Given the description of an element on the screen output the (x, y) to click on. 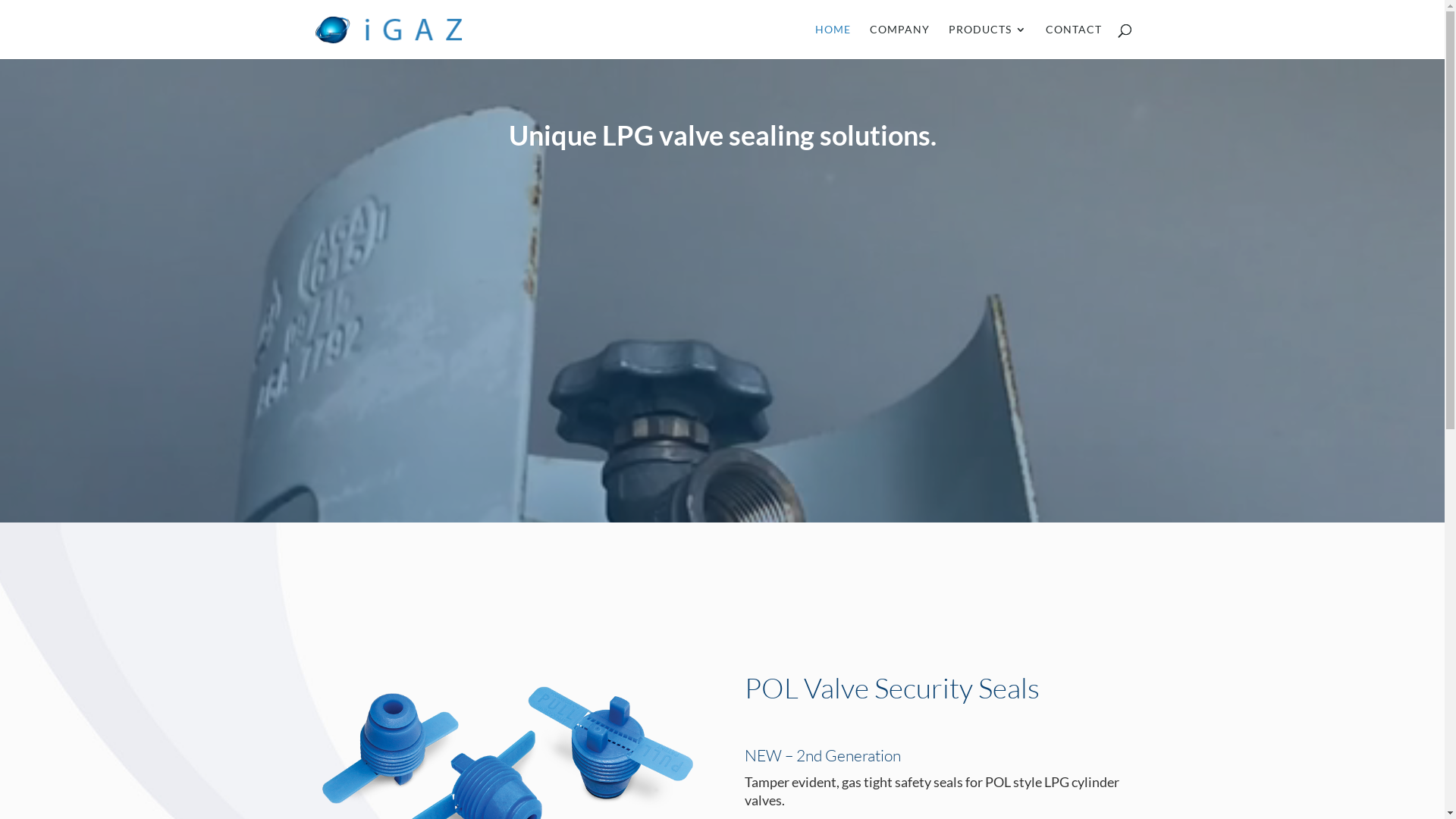
CONTACT Element type: text (1072, 41)
HOME Element type: text (832, 41)
POL Valve Security Seals Element type: text (891, 687)
COMPANY Element type: text (898, 41)
PRODUCTS Element type: text (986, 41)
